Given the description of an element on the screen output the (x, y) to click on. 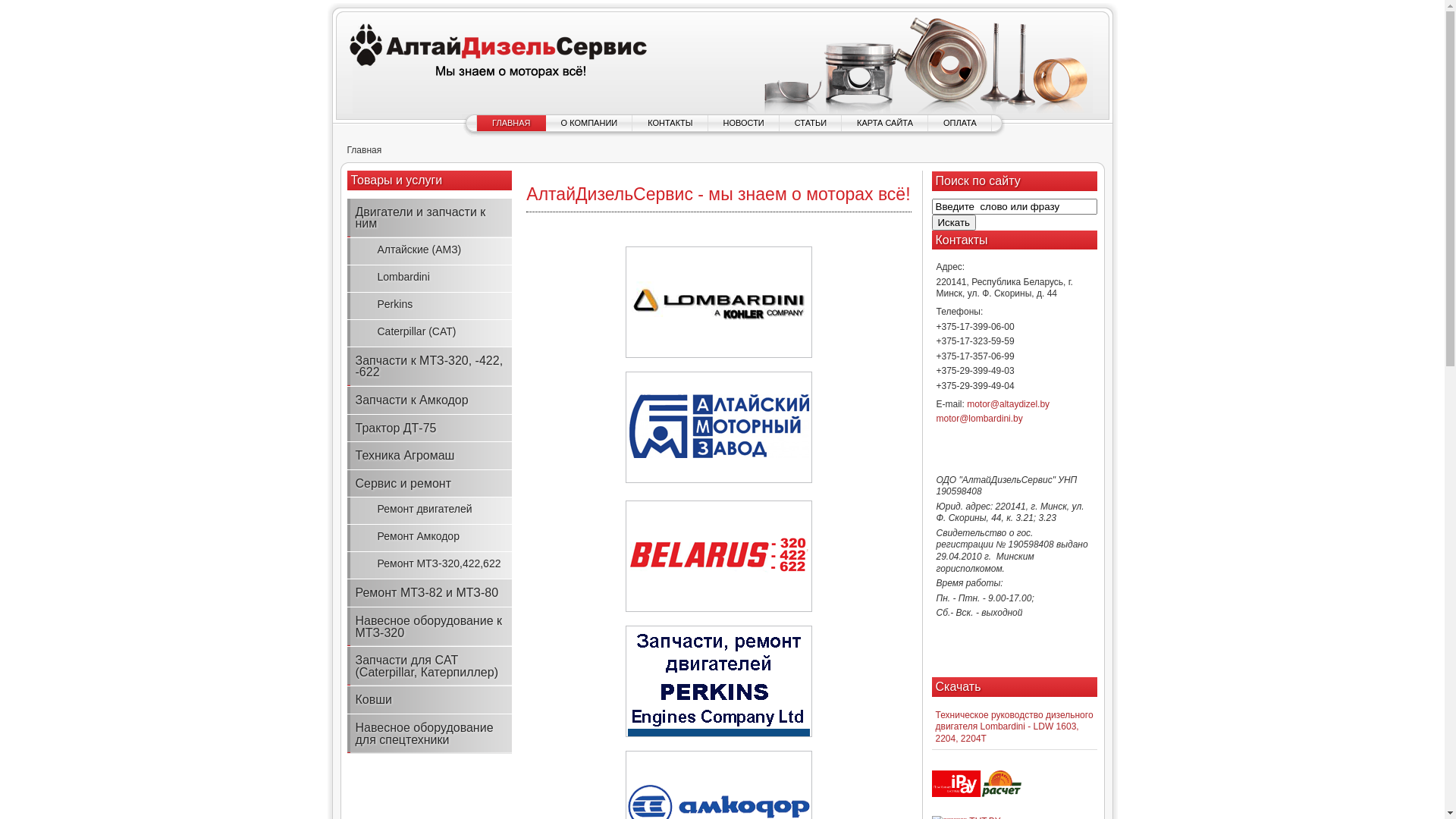
Lombardini Element type: text (429, 277)
Caterpillar (CAT) Element type: text (429, 332)
Perkins Element type: text (429, 305)
motor@altaydizel.by Element type: text (1007, 403)
motor@lombardini.by Element type: text (978, 418)
